Given the description of an element on the screen output the (x, y) to click on. 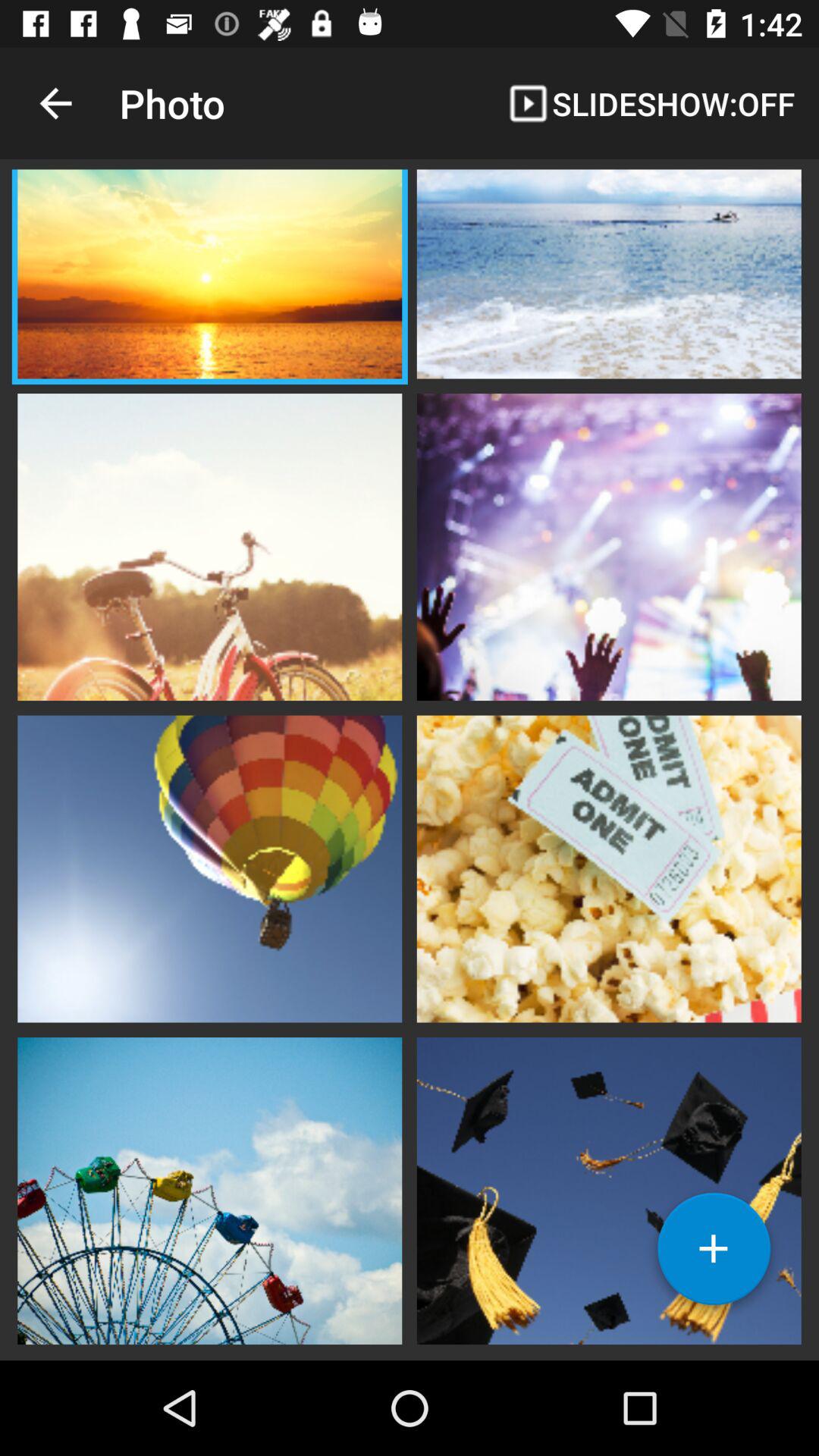
add new photo (713, 1254)
